Given the description of an element on the screen output the (x, y) to click on. 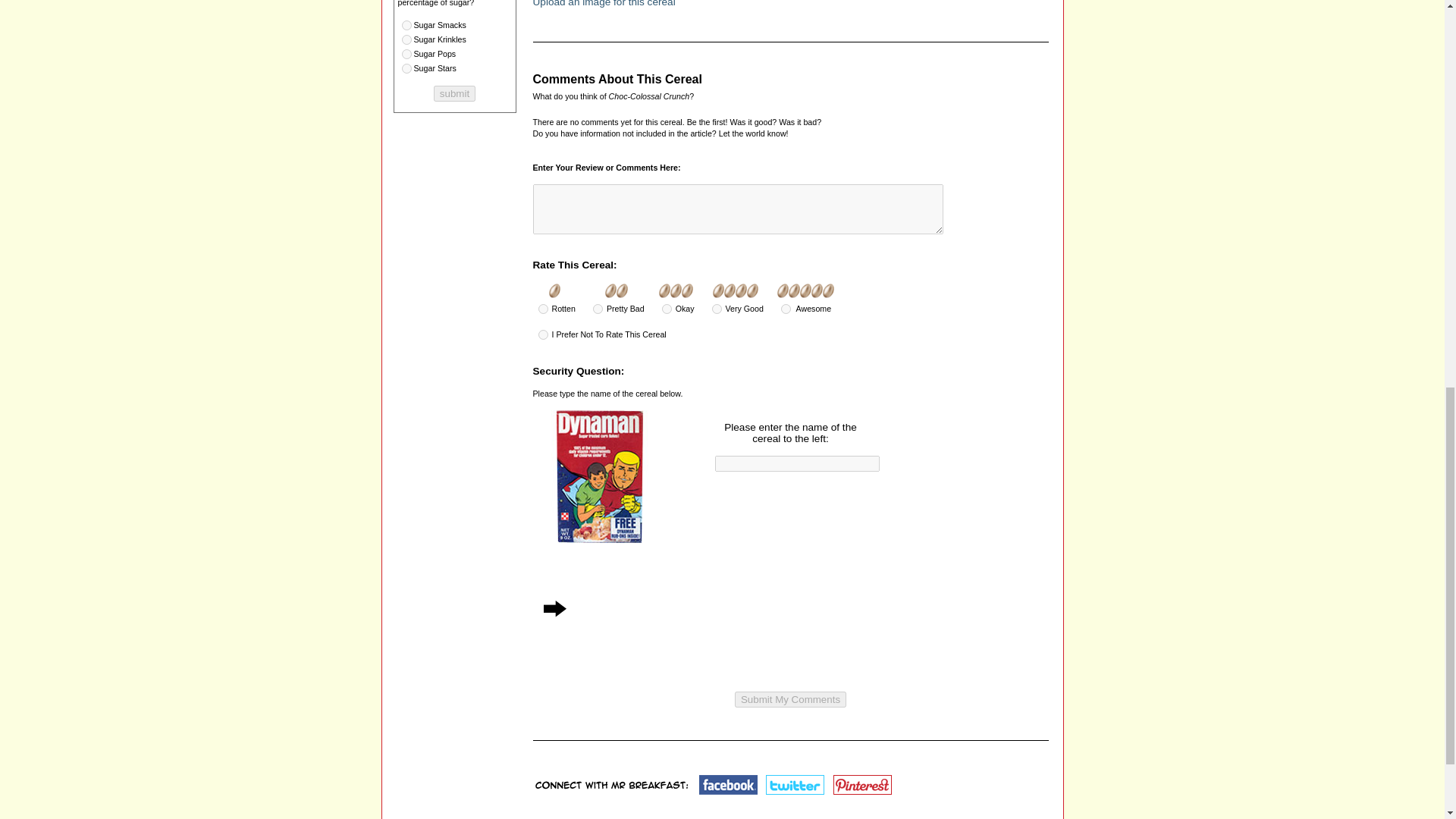
1 (543, 308)
1 (406, 40)
111 (543, 334)
4 (406, 25)
submit (454, 93)
2 (406, 53)
4 (716, 308)
Submit My Comments (790, 699)
5 (785, 308)
3 (406, 68)
2 (597, 308)
3 (666, 308)
